Given the description of an element on the screen output the (x, y) to click on. 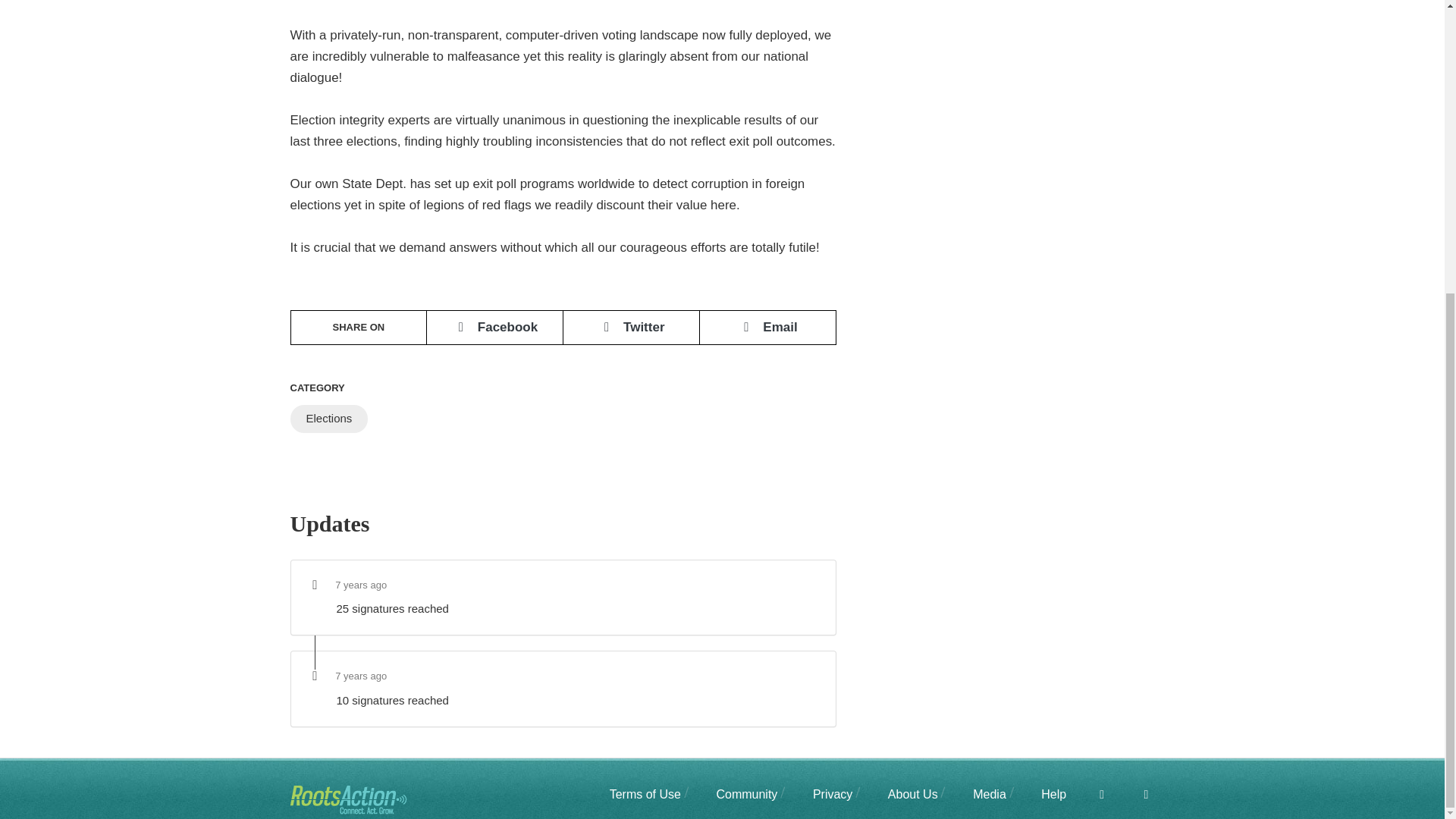
Twitter (1133, 794)
Facebook (1088, 794)
Share on Twitter (631, 327)
Email (766, 327)
Share on Facebook (494, 327)
Terms of Use (645, 793)
Help (1040, 794)
Community (734, 794)
Facebook (494, 327)
Twitter (631, 327)
